Given the description of an element on the screen output the (x, y) to click on. 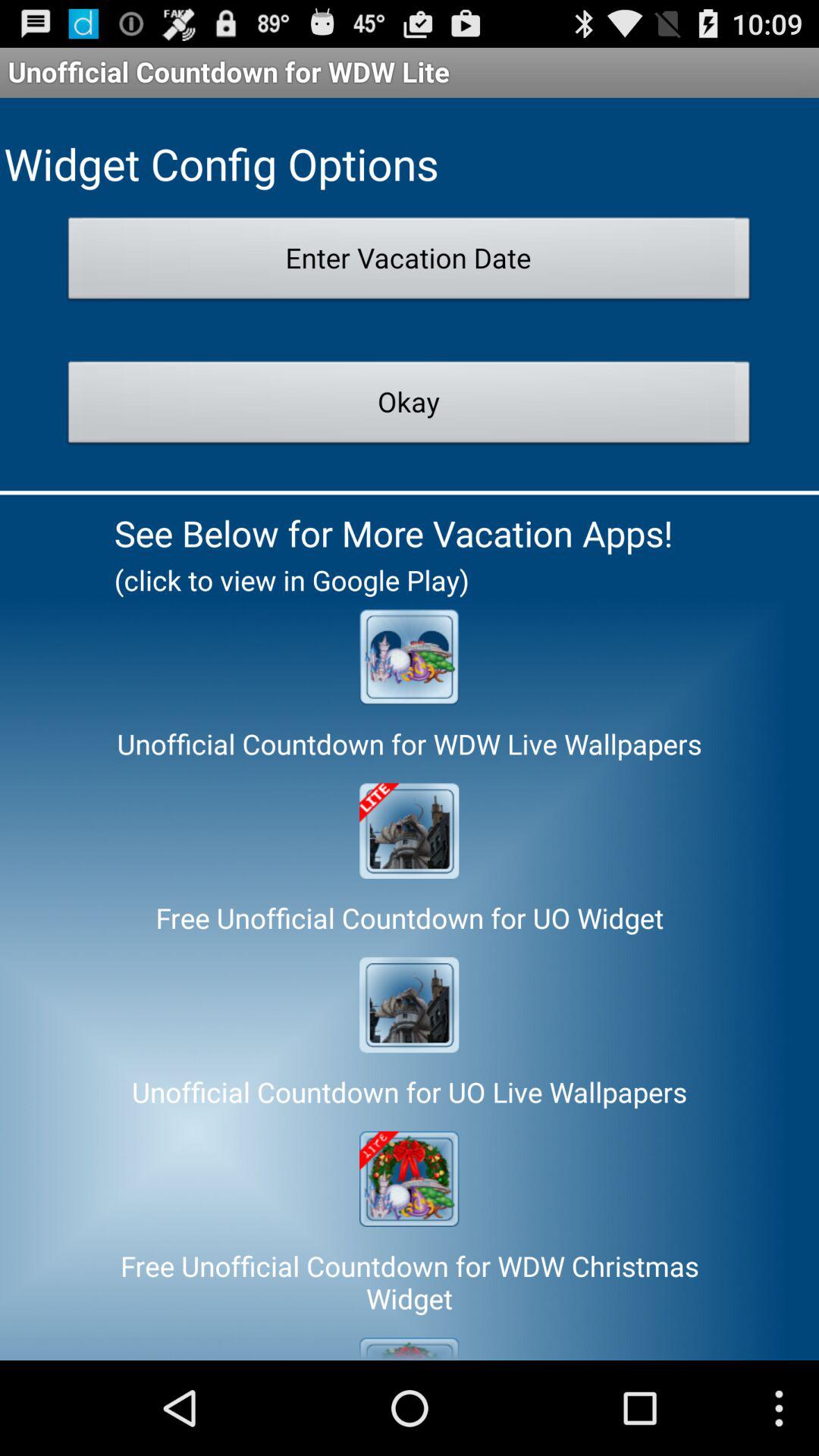
turn off the item below the widget config options icon (408, 262)
